Given the description of an element on the screen output the (x, y) to click on. 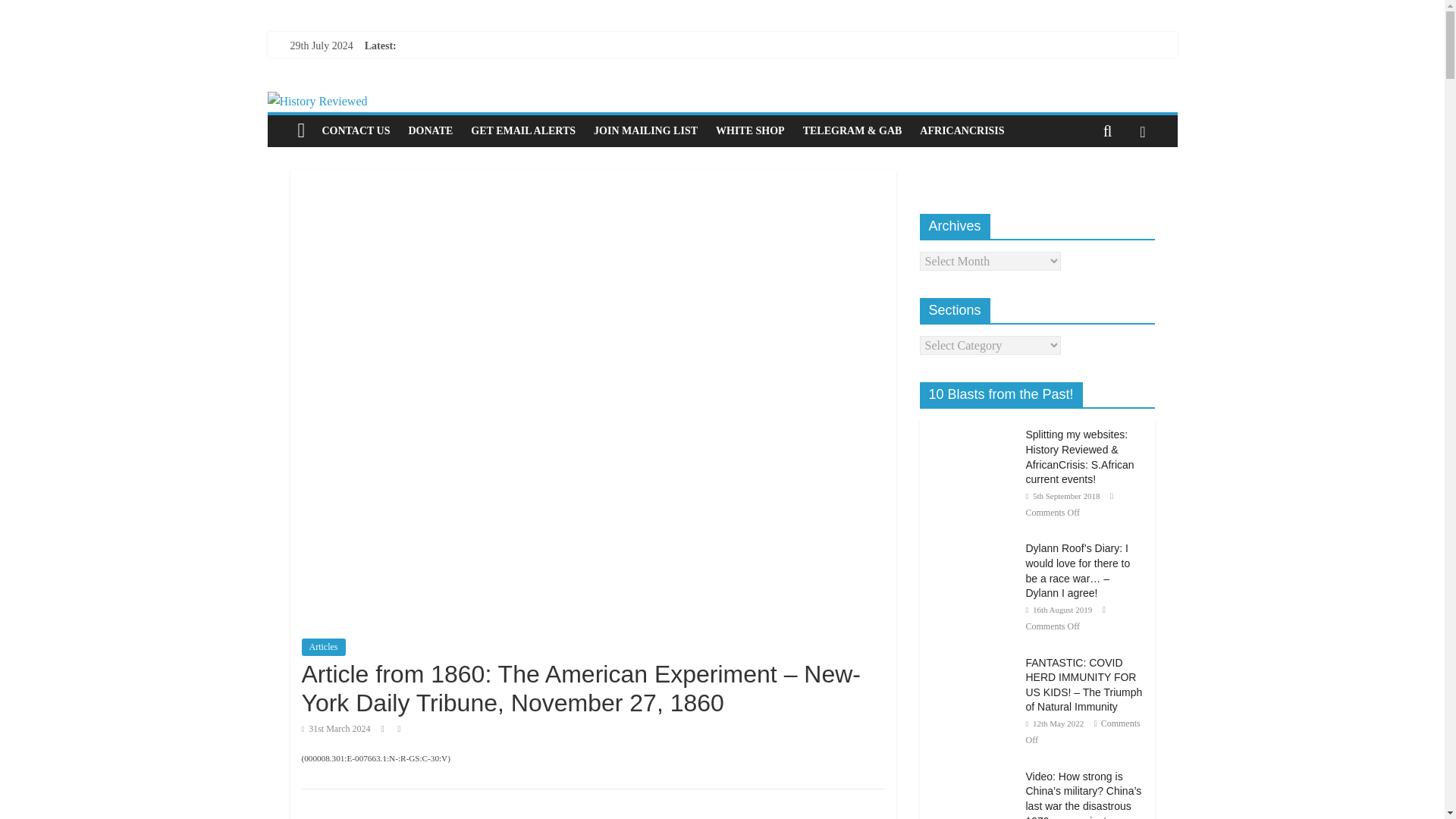
Articles (323, 646)
DONATE (429, 131)
WHITE SHOP (749, 131)
31st March 2024 (336, 728)
AFRICANCRISIS (962, 131)
JOIN MAILING LIST (645, 131)
History Reviewed (721, 101)
GET EMAIL ALERTS (523, 131)
CONTACT US (355, 131)
1:32 am (336, 728)
